Given the description of an element on the screen output the (x, y) to click on. 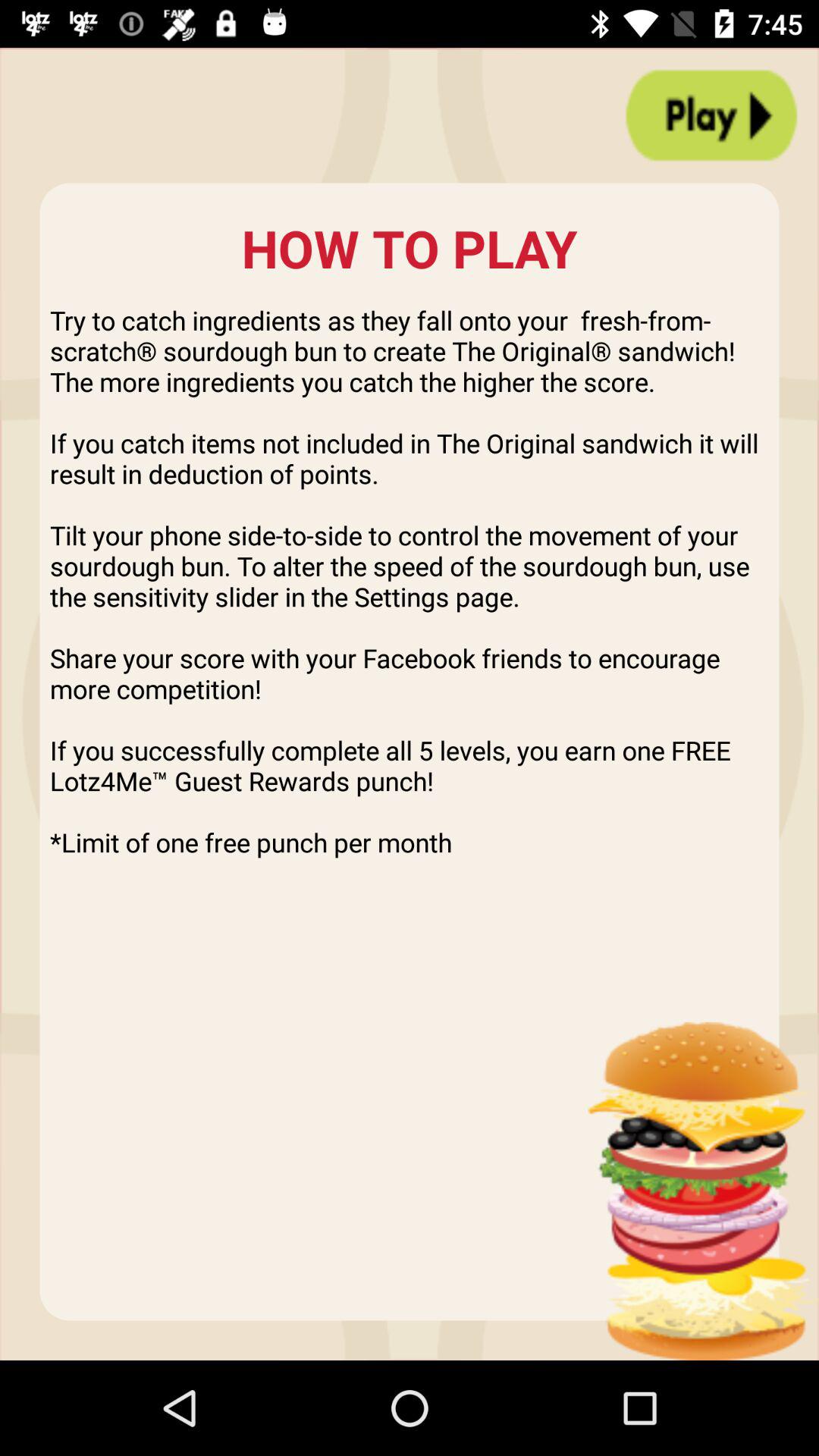
play (711, 115)
